Given the description of an element on the screen output the (x, y) to click on. 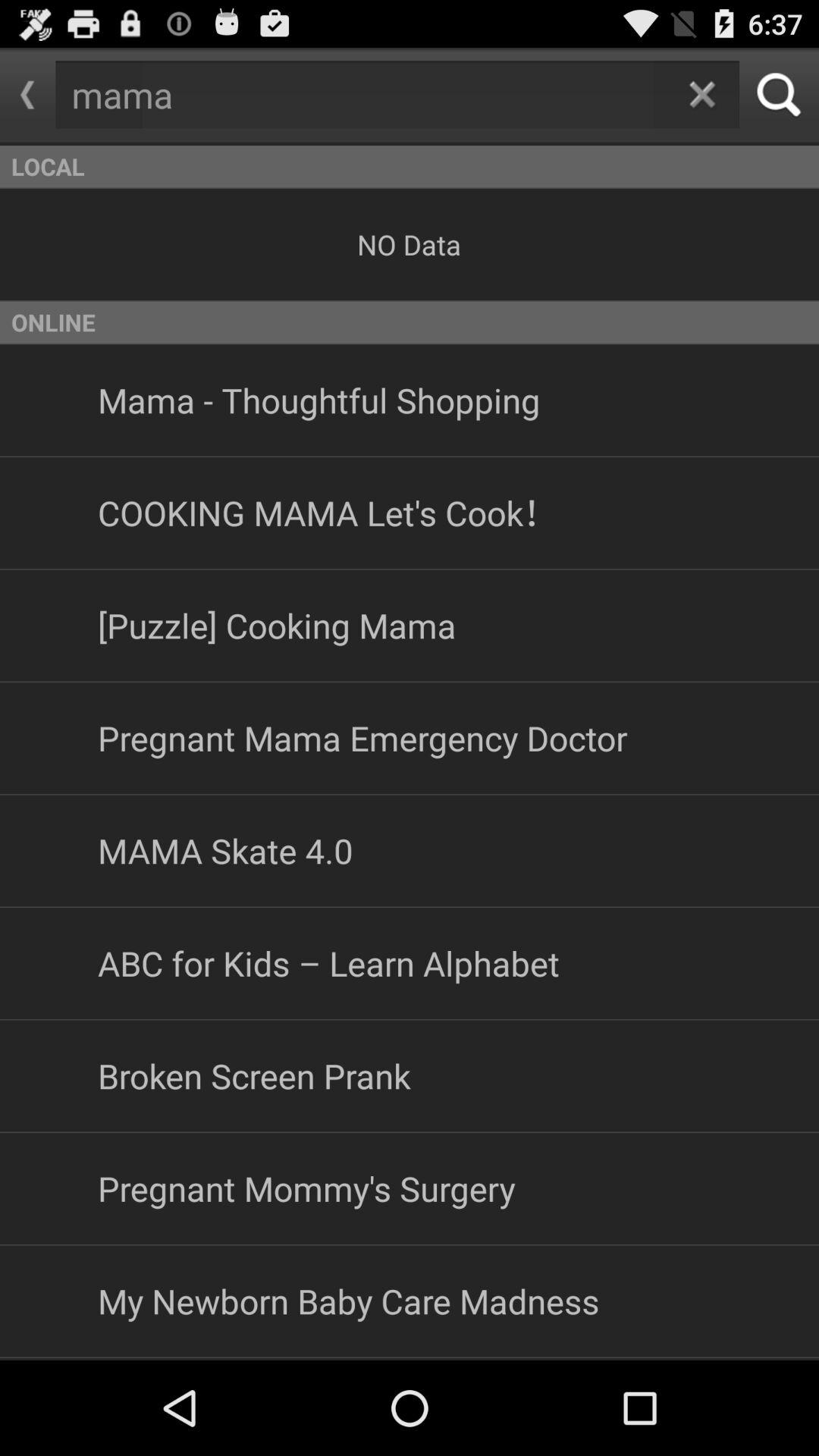
launch the app above local icon (27, 94)
